Given the description of an element on the screen output the (x, y) to click on. 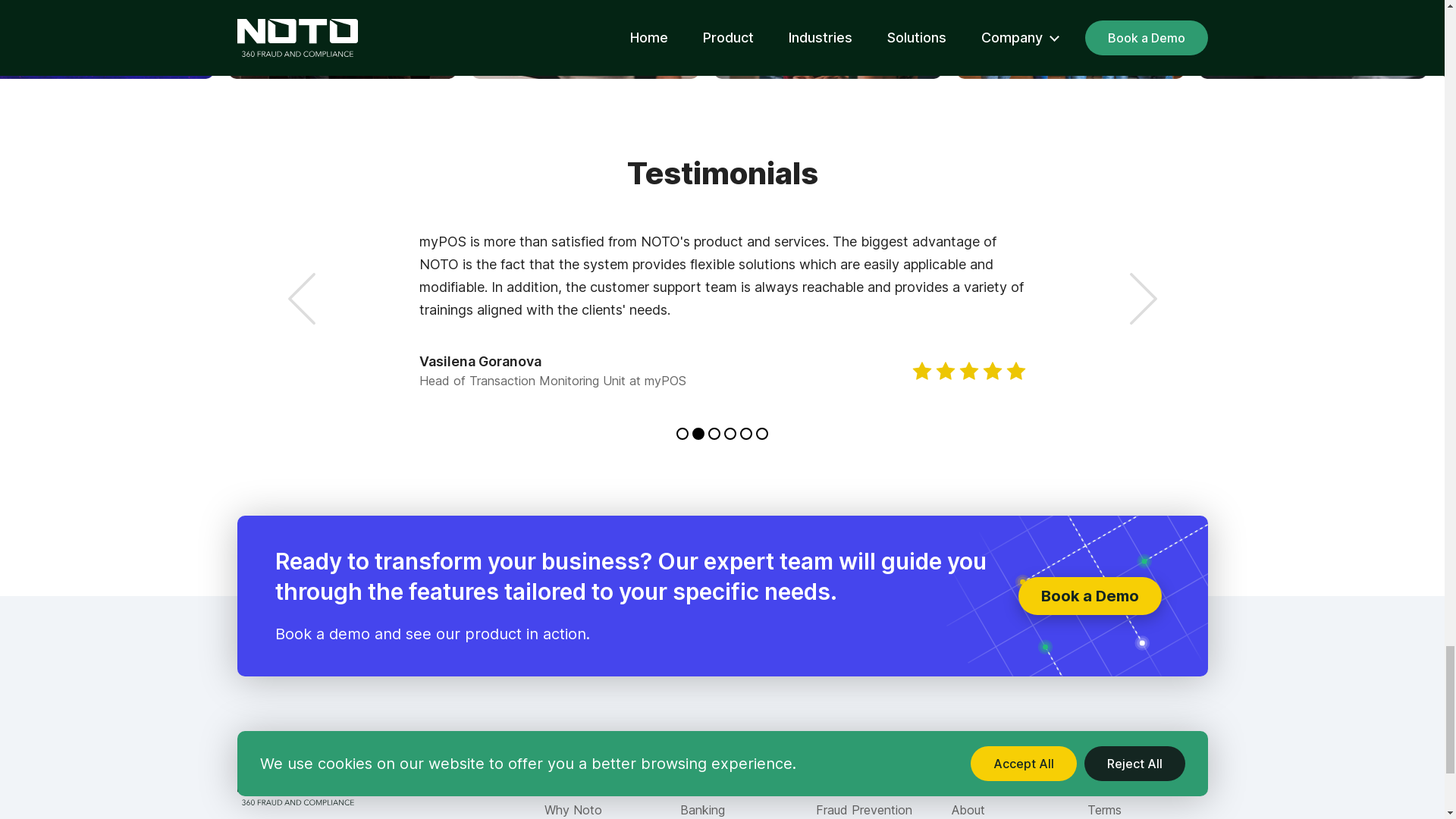
Book a Demo (1088, 596)
Banking (701, 809)
Why Noto (573, 809)
